Given the description of an element on the screen output the (x, y) to click on. 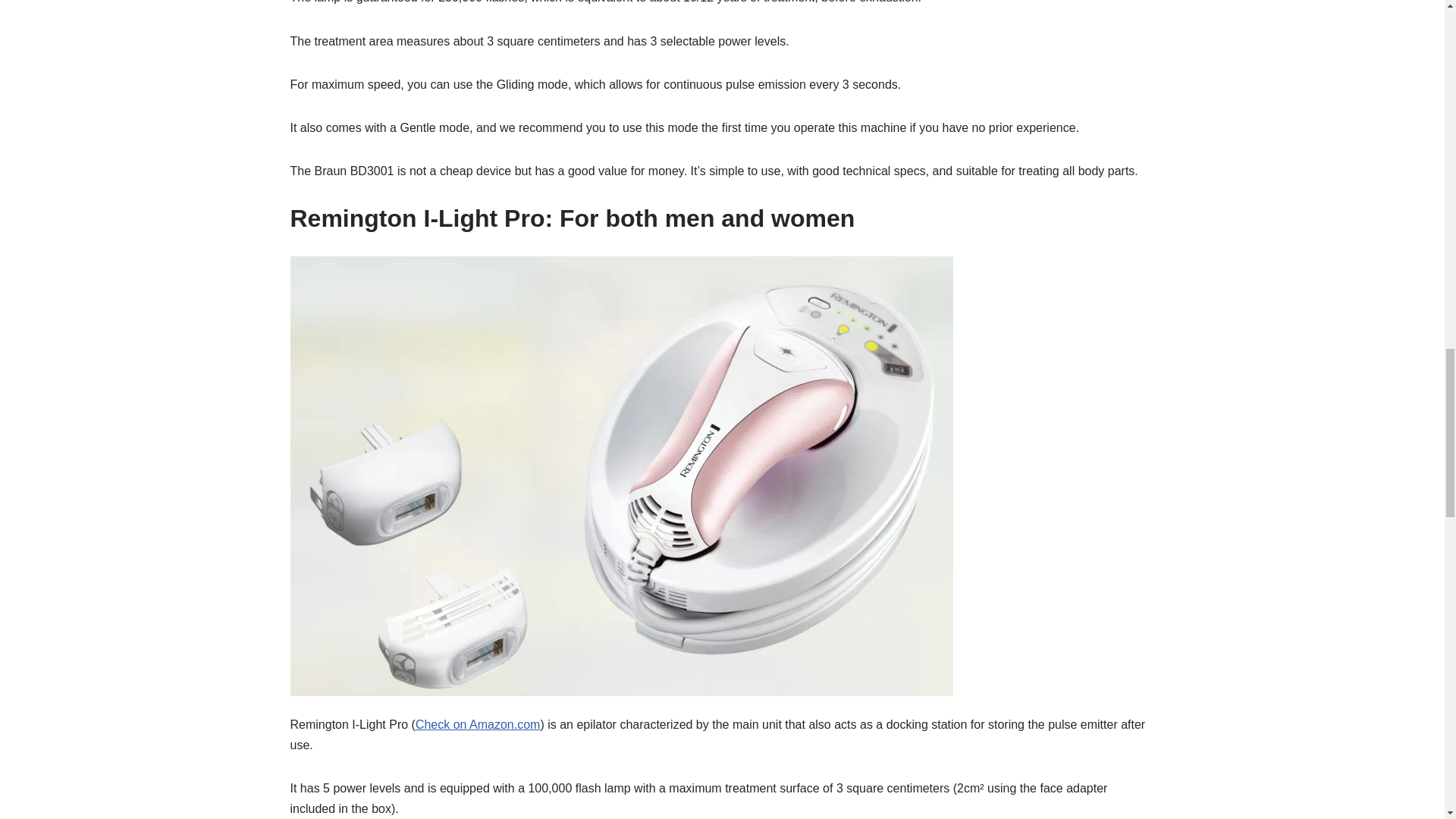
Check on Amazon.com (477, 724)
